Given the description of an element on the screen output the (x, y) to click on. 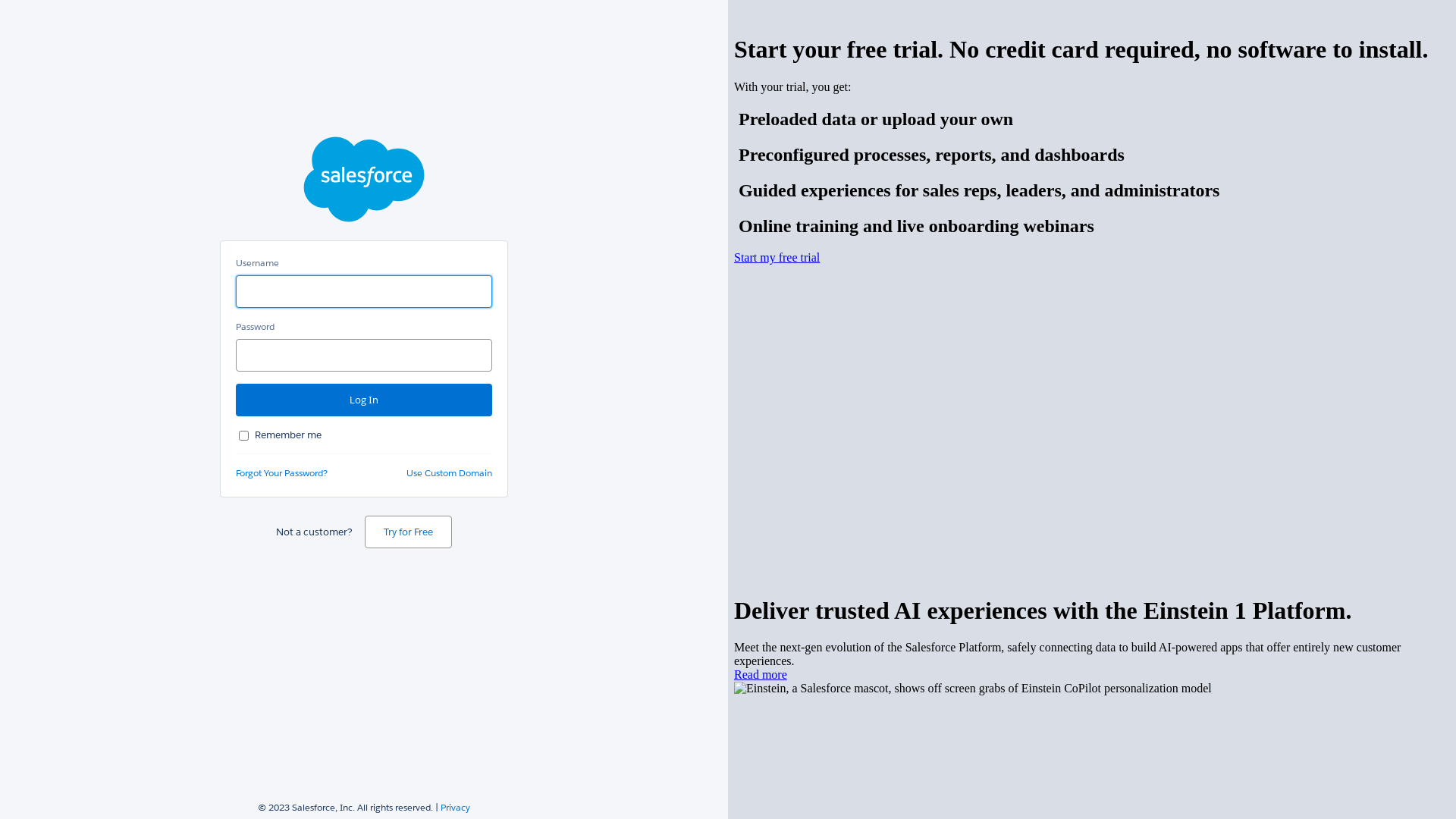
Log In Element type: text (363, 399)
Try for Free Element type: text (407, 531)
Use Custom Domain Element type: text (449, 472)
Forgot Your Password? Element type: text (281, 472)
Privacy Element type: text (455, 806)
